Given the description of an element on the screen output the (x, y) to click on. 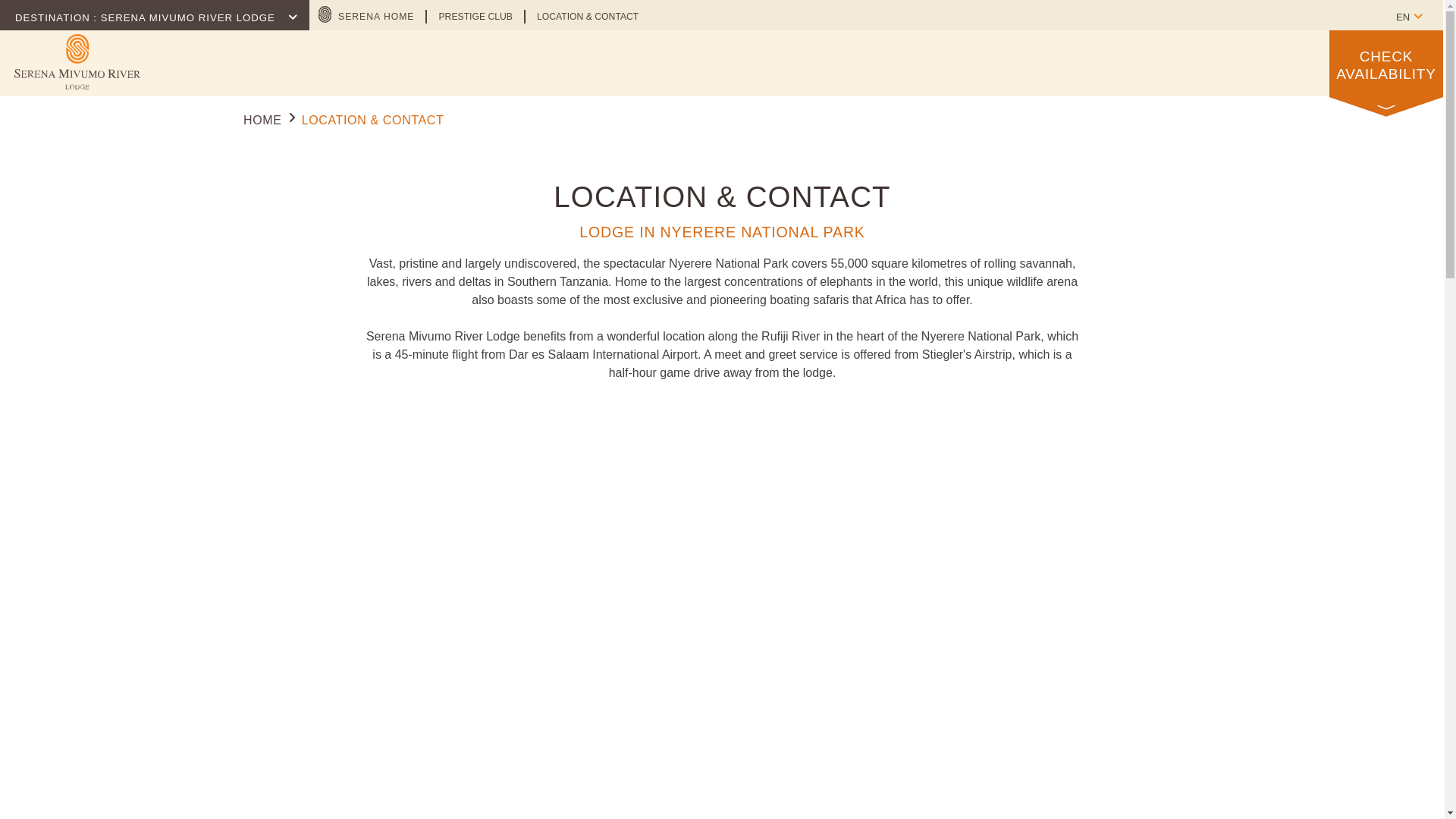
HOME (262, 119)
PRESTIGE CLUB (474, 15)
SERENA HOME (378, 14)
